Given the description of an element on the screen output the (x, y) to click on. 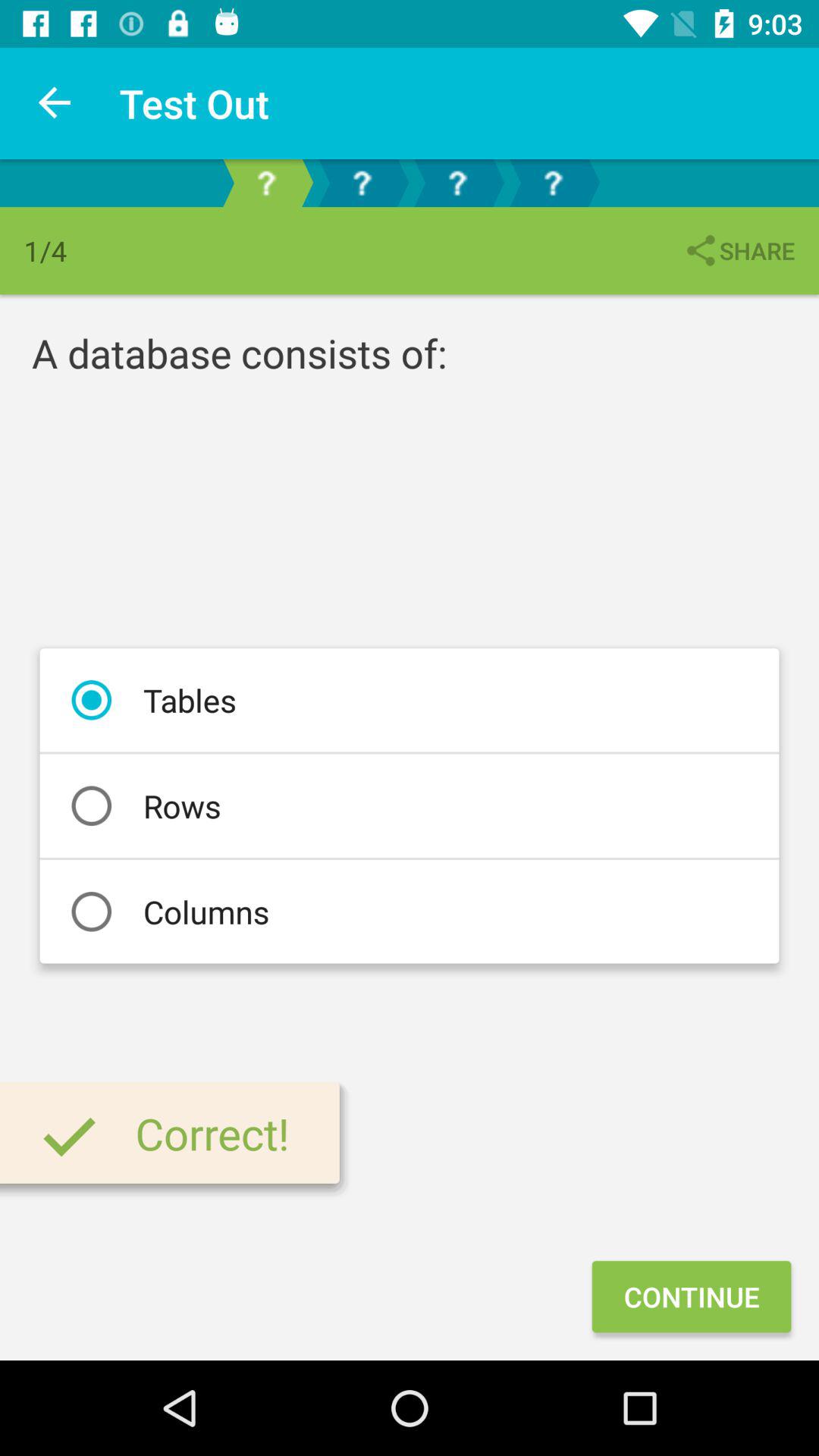
help (361, 183)
